Given the description of an element on the screen output the (x, y) to click on. 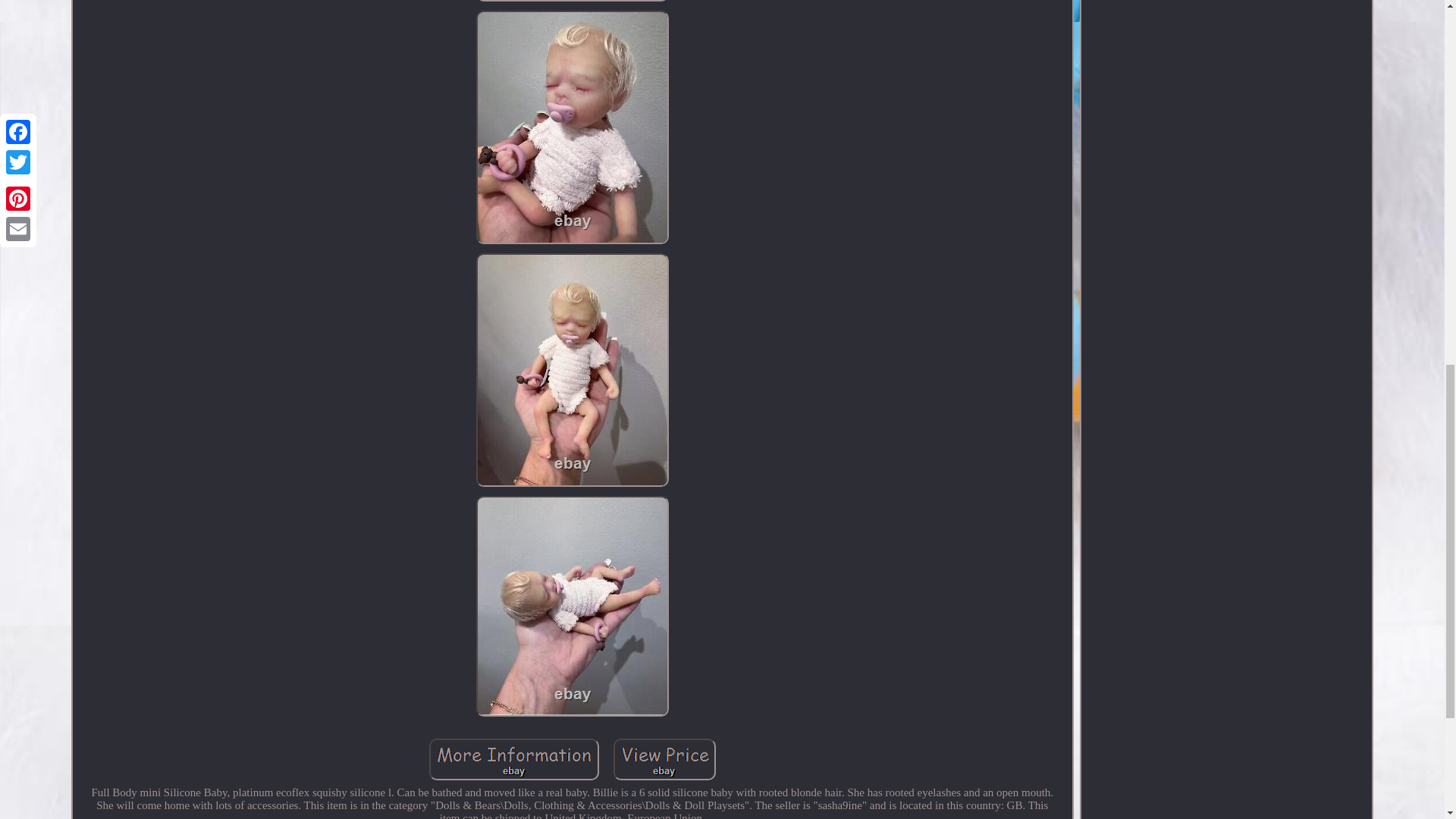
Full Body mini Silicone Baby, Silicone Reborn Baby Girl Doll (513, 759)
Full Body mini Silicone Baby, Silicone Reborn Baby Girl Doll (664, 759)
